Given the description of an element on the screen output the (x, y) to click on. 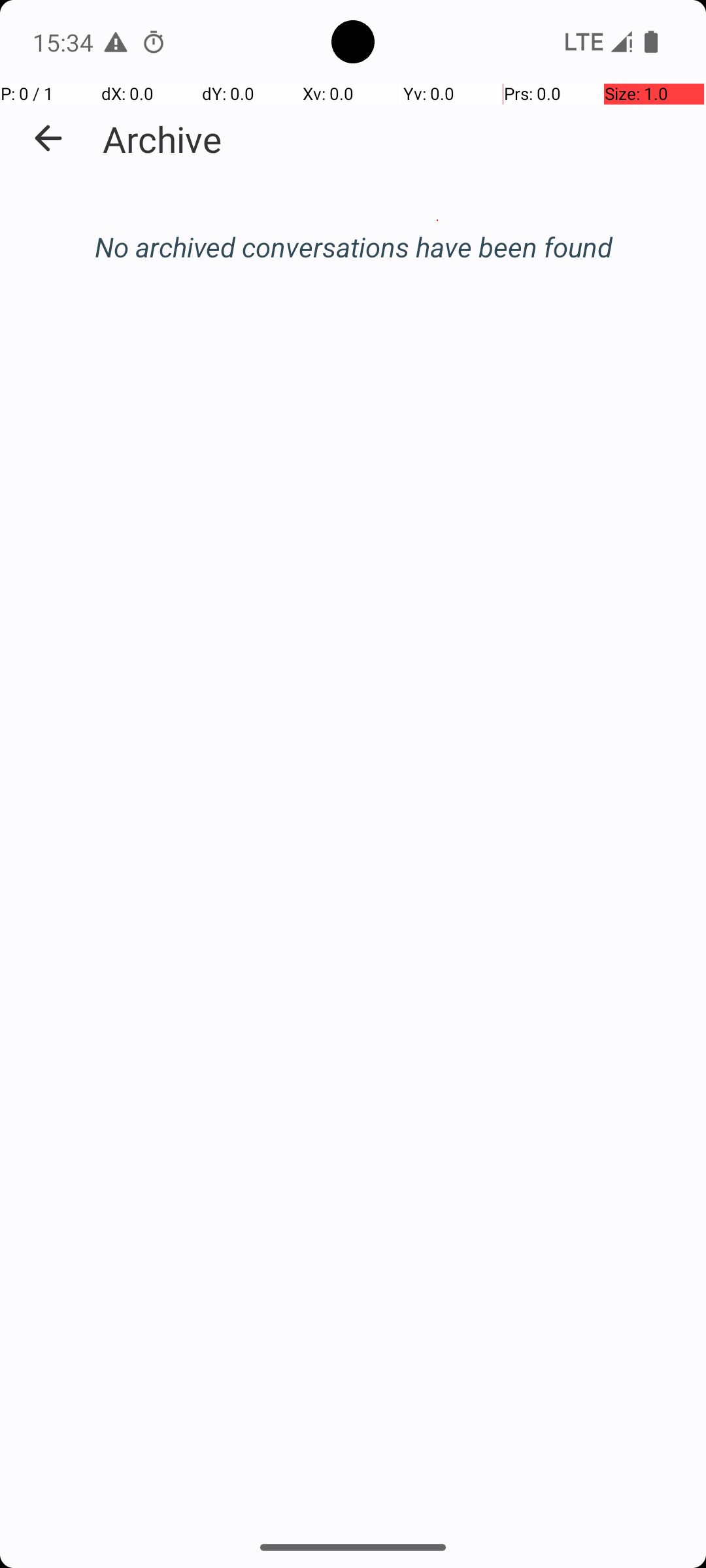
Archive Element type: android.widget.TextView (162, 138)
No archived conversations have been found Element type: android.widget.TextView (353, 246)
